Given the description of an element on the screen output the (x, y) to click on. 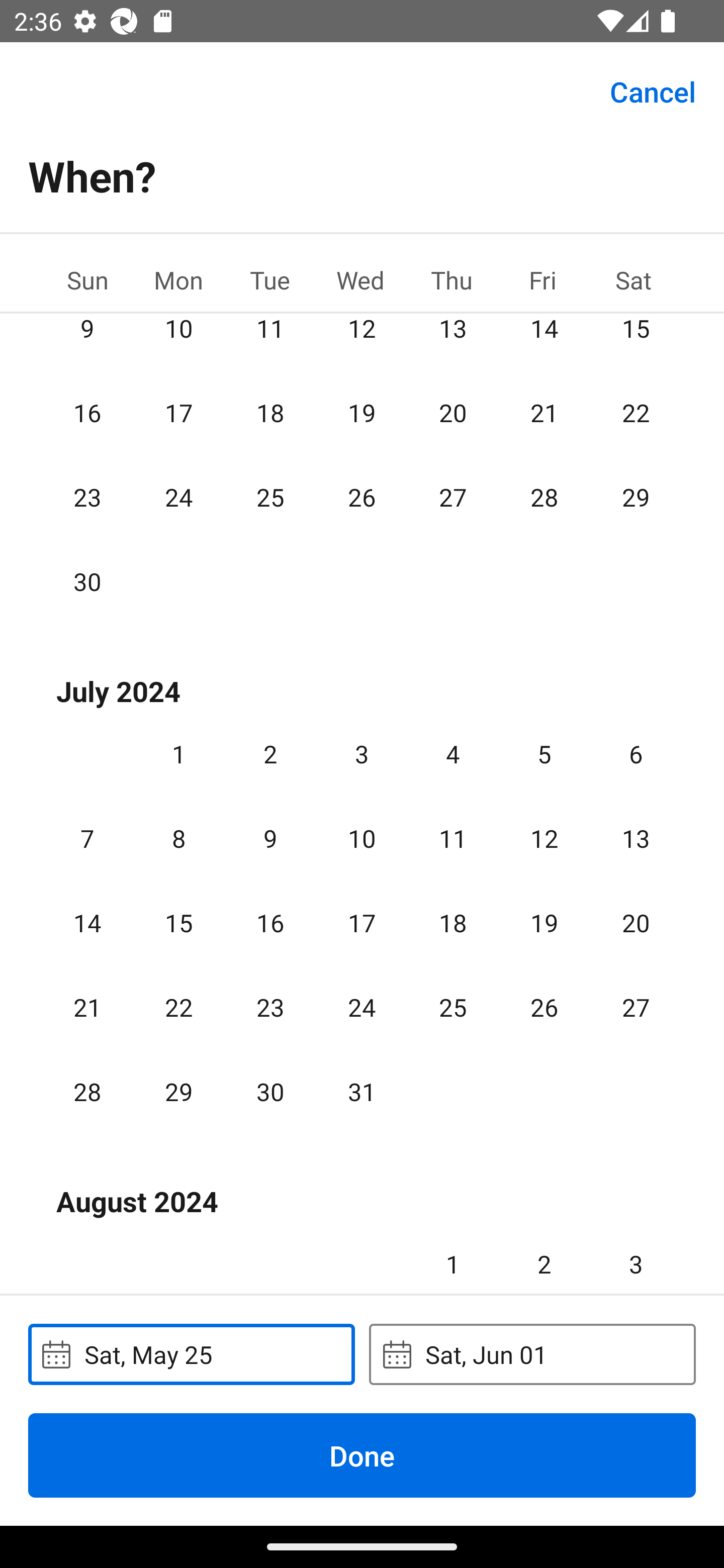
Cancel (652, 90)
Sat, May 25 (191, 1353)
Sat, Jun 01 (532, 1353)
Done (361, 1454)
